Given the description of an element on the screen output the (x, y) to click on. 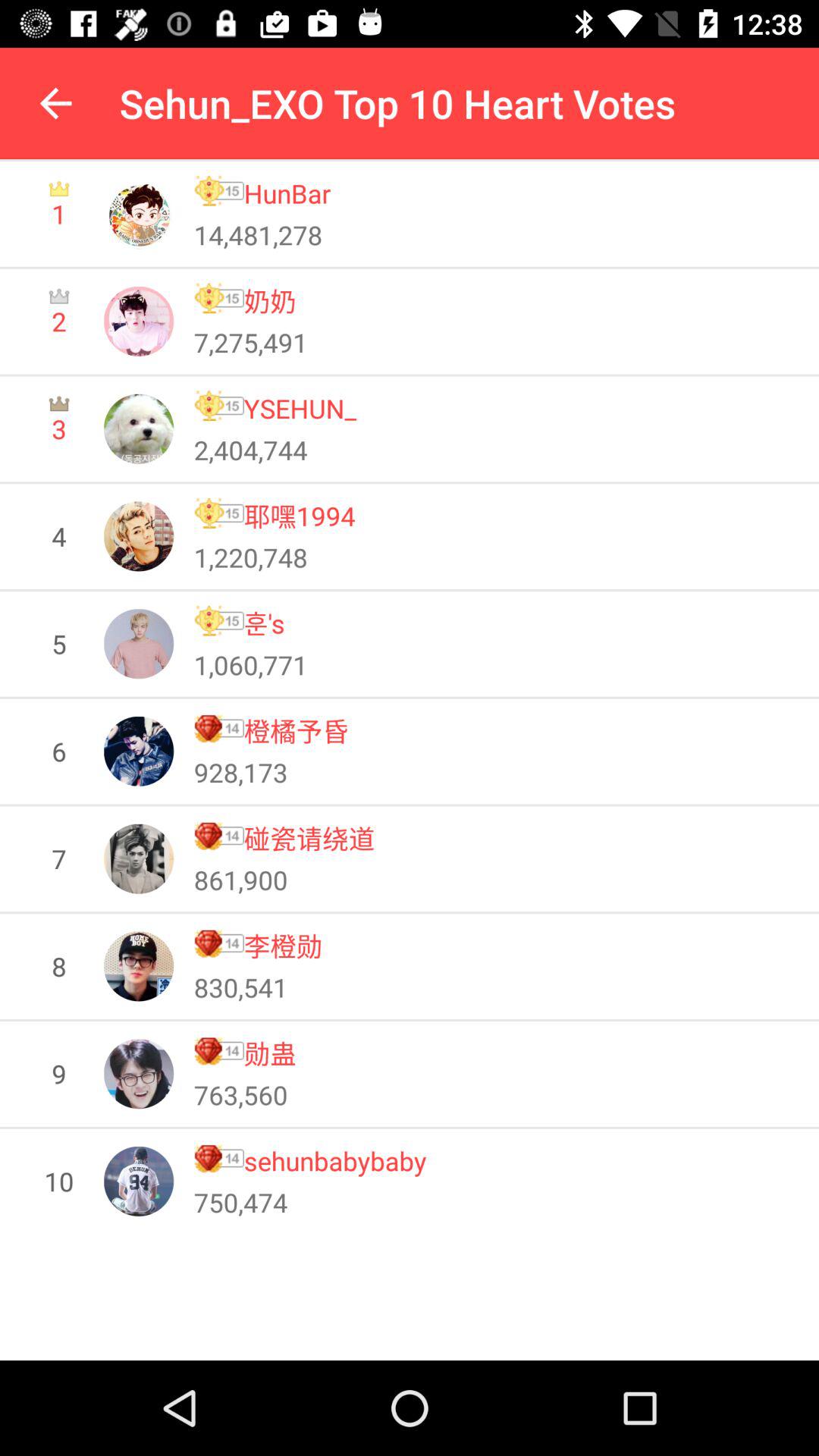
click 3 item (58, 428)
